Given the description of an element on the screen output the (x, y) to click on. 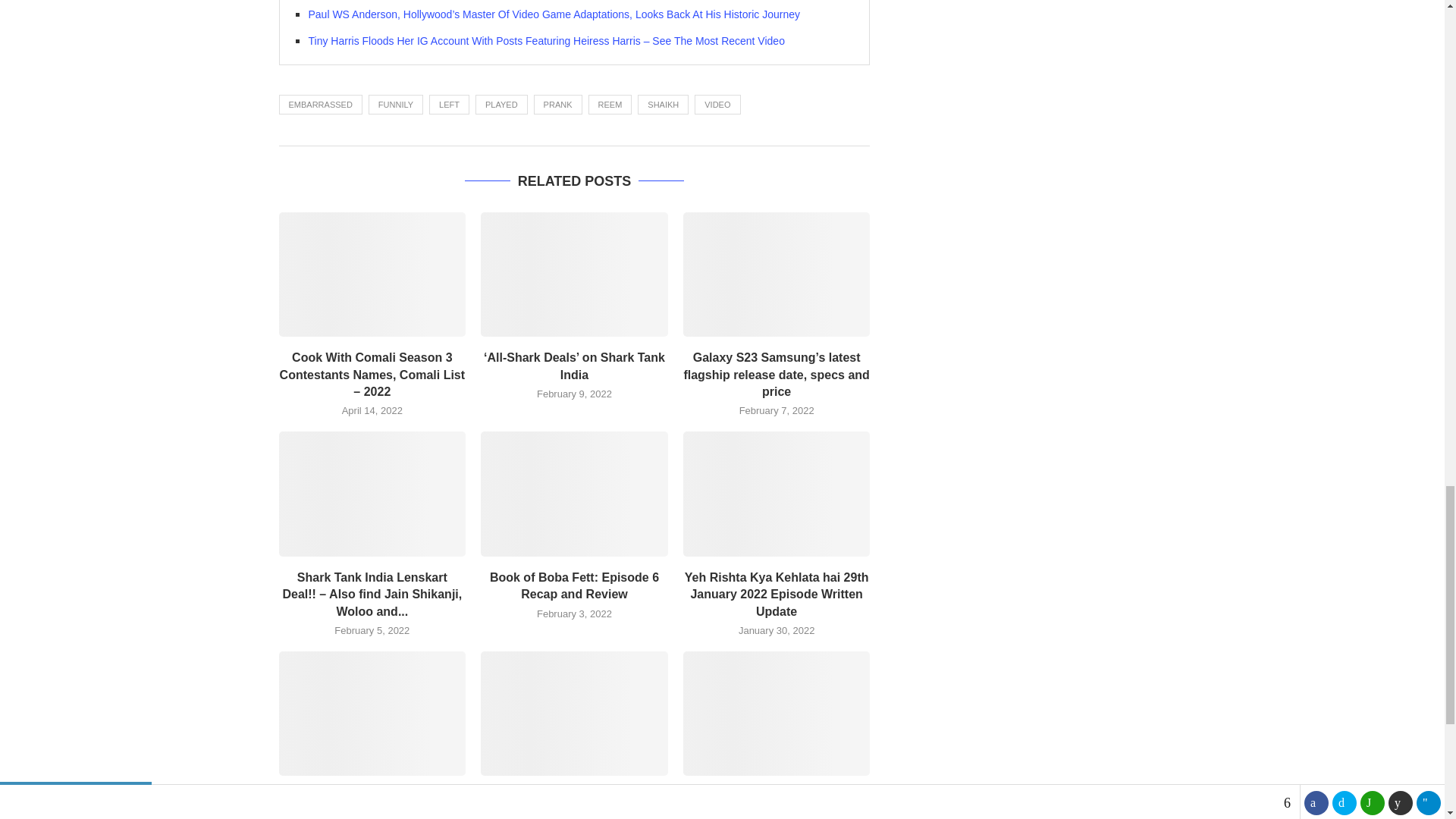
Shark Tank India: PPE Ventilator and Insurance (776, 713)
Book of Boba Fett: Episode 6 Recap and Review (574, 493)
